Given the description of an element on the screen output the (x, y) to click on. 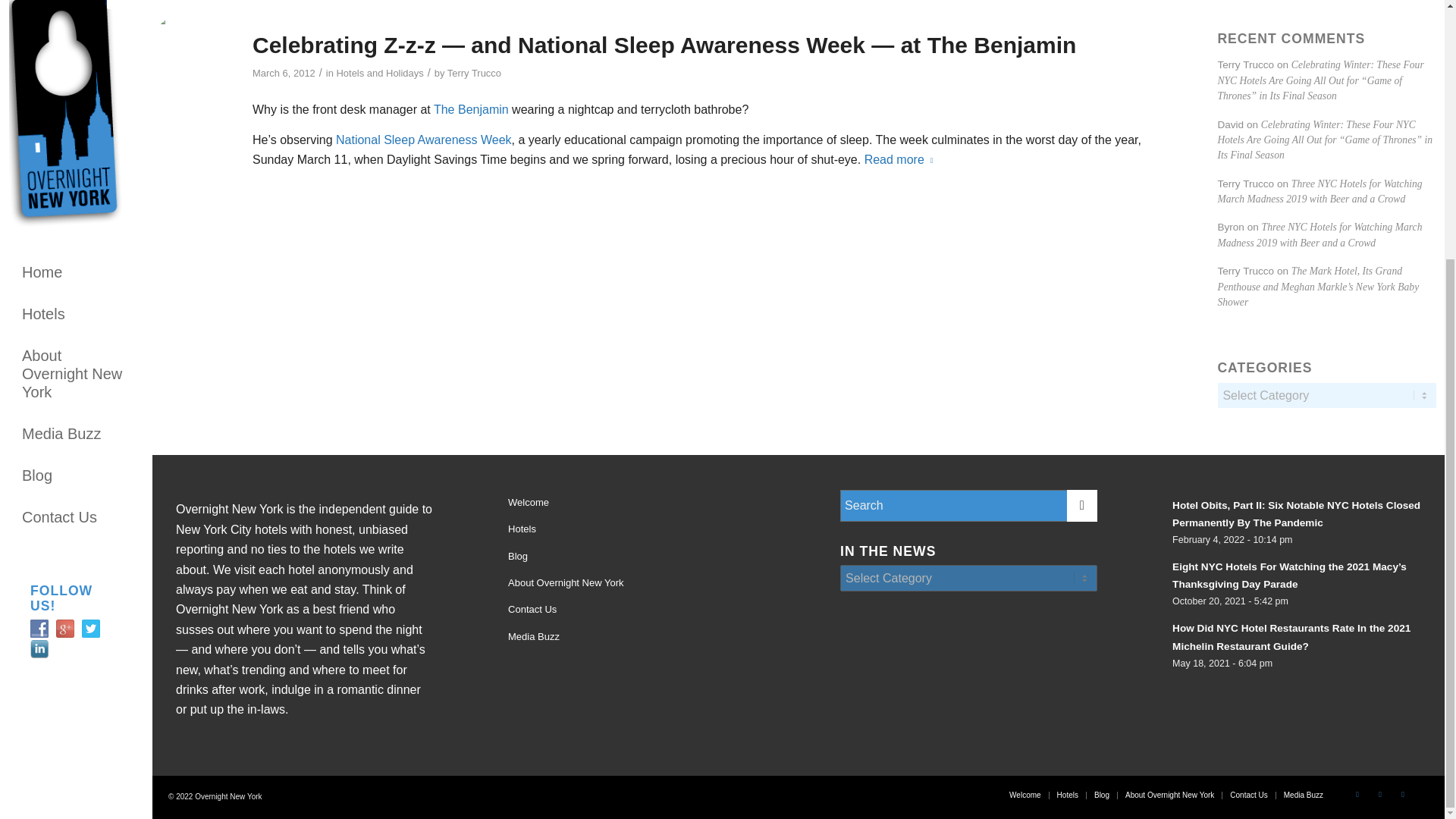
Contact Us (76, 146)
Hotels (636, 529)
Terry Trucco (473, 72)
Blog (636, 556)
The Benjamin (472, 109)
Welcome (636, 502)
Media Buzz (76, 63)
